Given the description of an element on the screen output the (x, y) to click on. 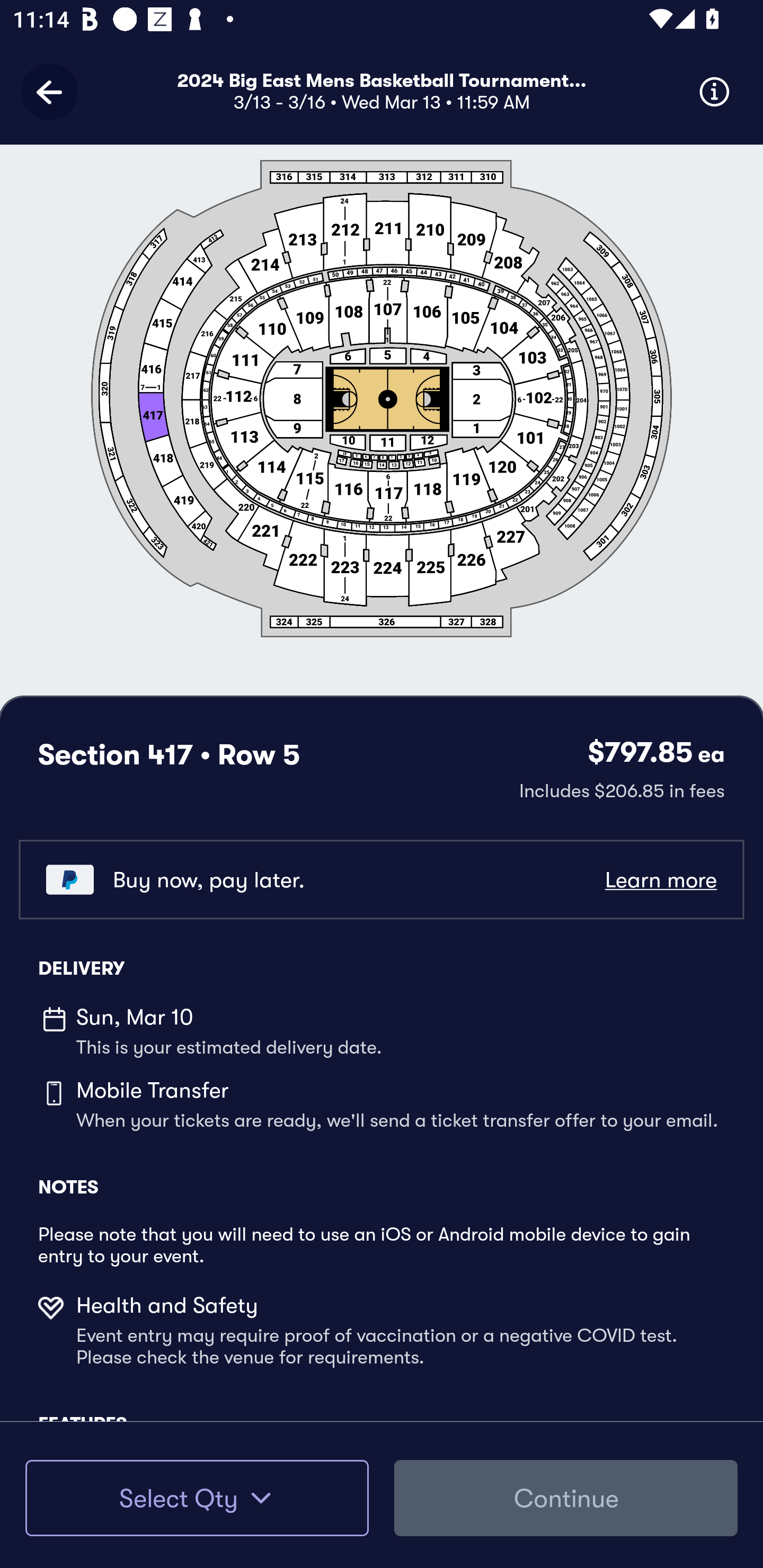
Learn more (660, 880)
Select Qty (196, 1497)
Continue (565, 1497)
